Given the description of an element on the screen output the (x, y) to click on. 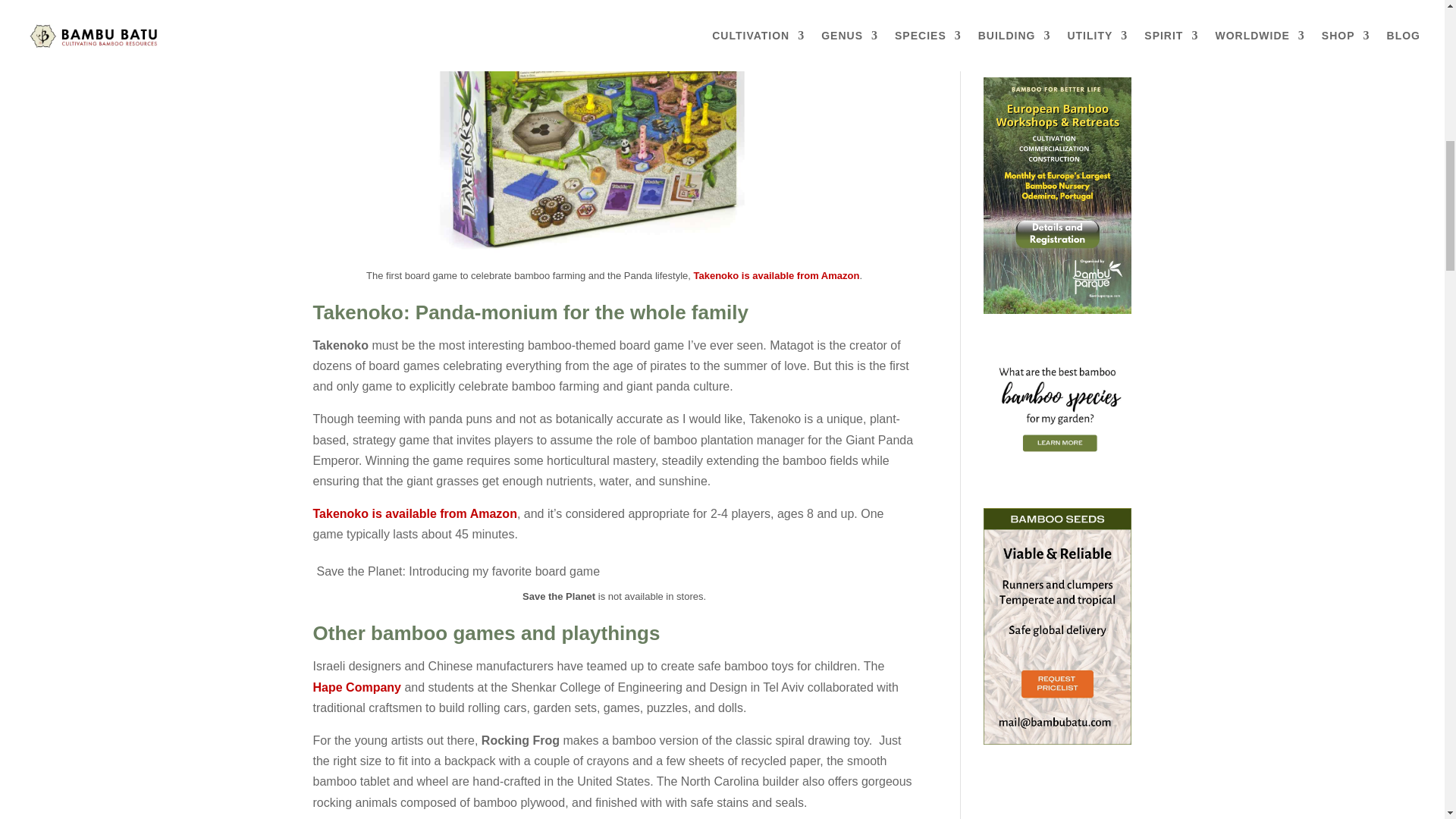
HapeToys (356, 686)
Save the Planet: Introducing my favorite board game (475, 571)
